Given the description of an element on the screen output the (x, y) to click on. 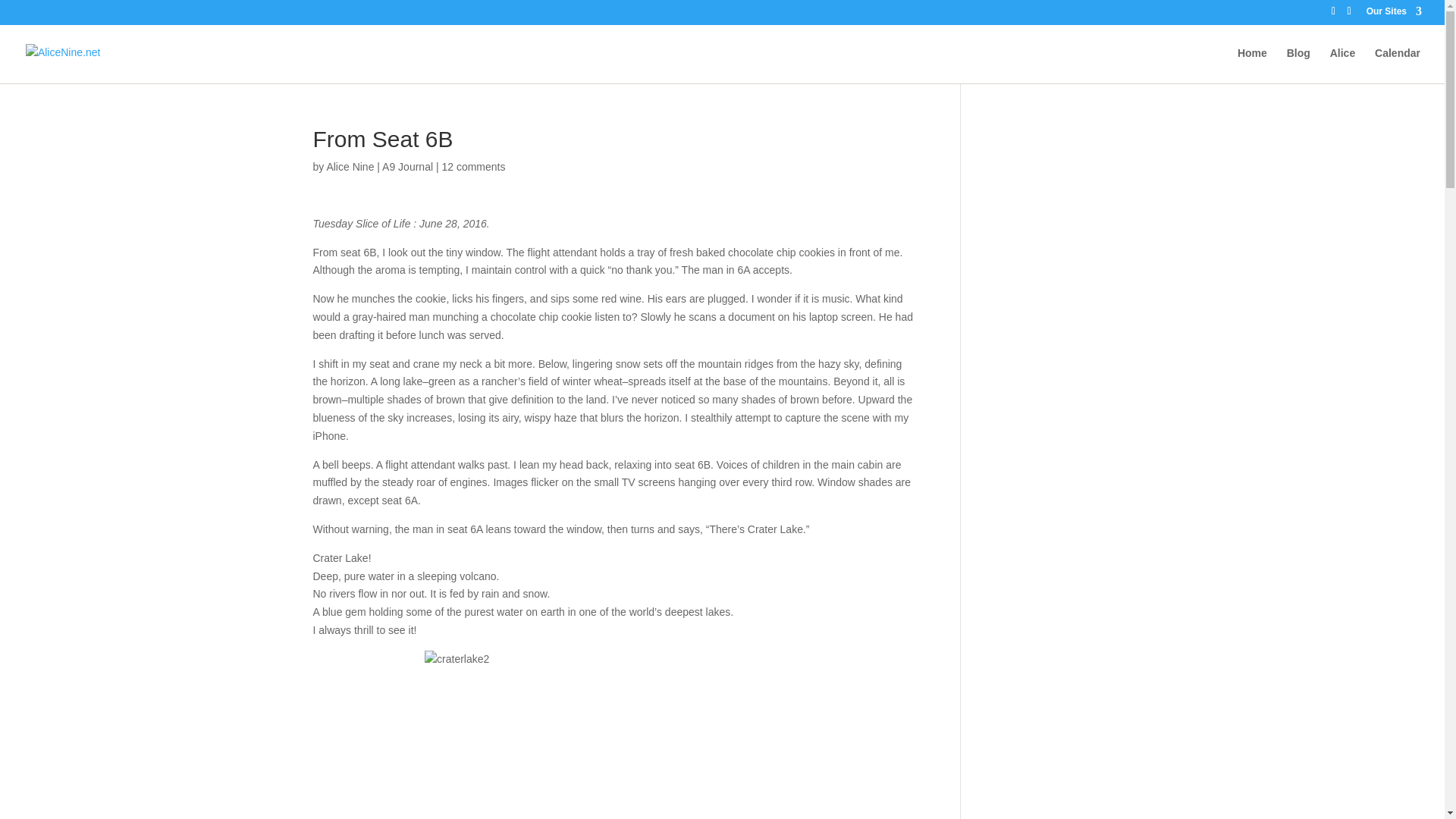
12 comments (473, 166)
A9 Journal (406, 166)
Posts by Alice Nine (350, 166)
Calendar (1397, 65)
Our Sites (1394, 14)
Alice Nine (350, 166)
